Given the description of an element on the screen output the (x, y) to click on. 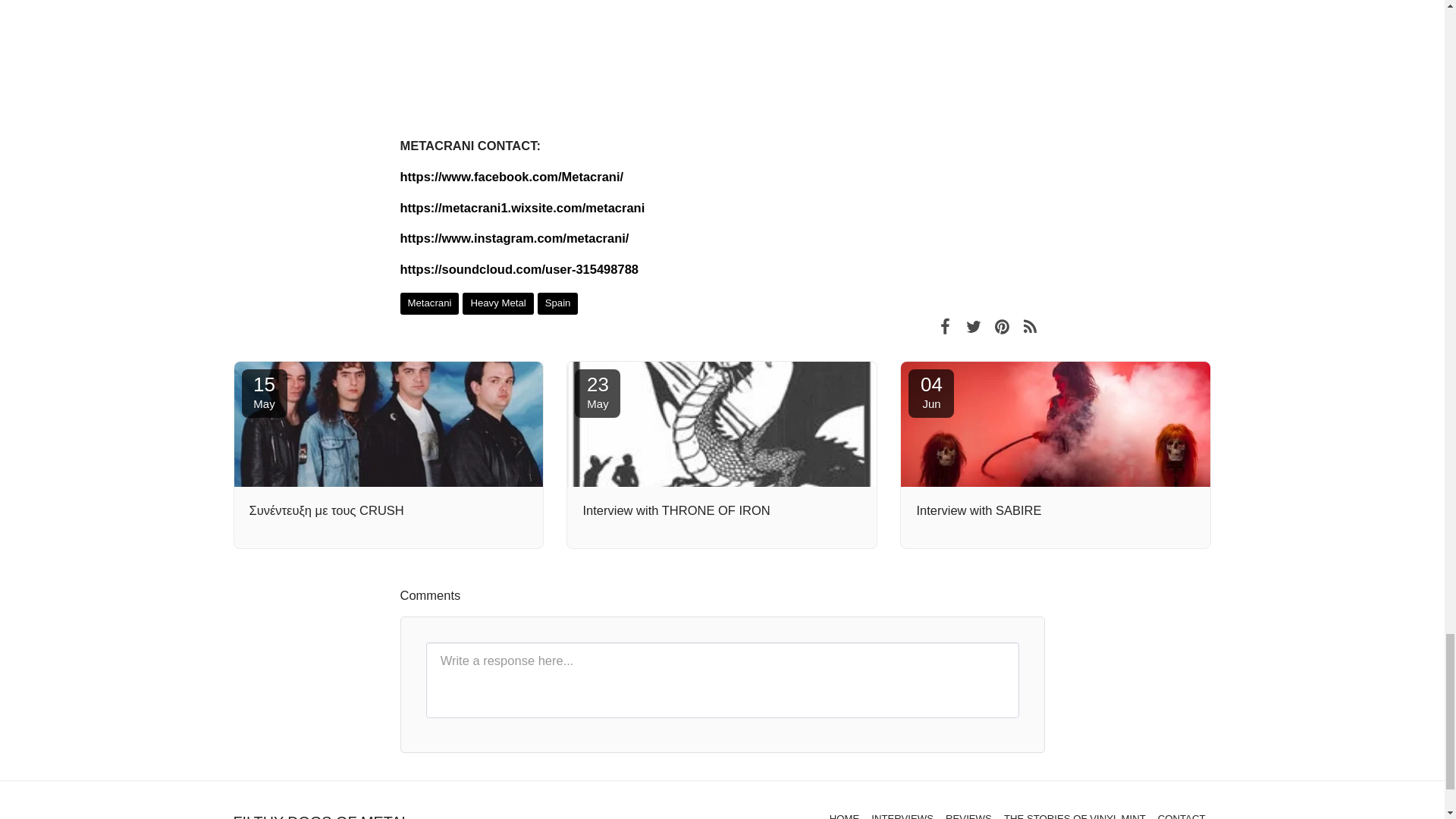
Heavy Metal (497, 303)
Tweet (973, 325)
Metacrani (263, 393)
Spain (430, 303)
RSS (557, 303)
Share on Facebook (1029, 325)
Interview with THRONE OF IRON (945, 325)
Pin it (597, 393)
